Given the description of an element on the screen output the (x, y) to click on. 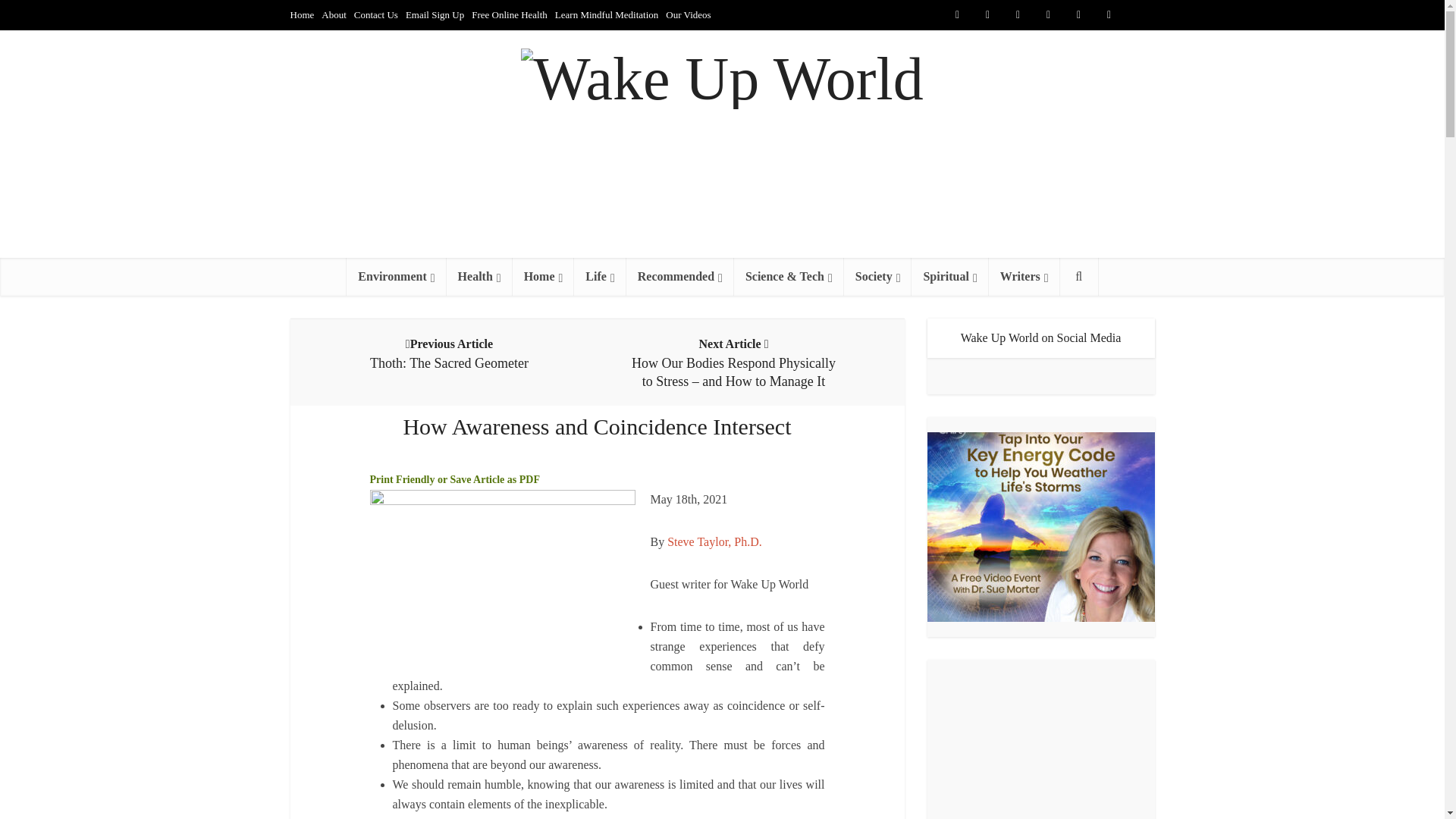
Email Sign Up (435, 14)
About (333, 14)
Articles recommended by WuW (679, 276)
Environment (395, 276)
Health (479, 276)
Wake Up World (722, 74)
Our Videos (687, 14)
Learn Mindful Meditation (606, 14)
Contact Us (375, 14)
Home (301, 14)
